Given the description of an element on the screen output the (x, y) to click on. 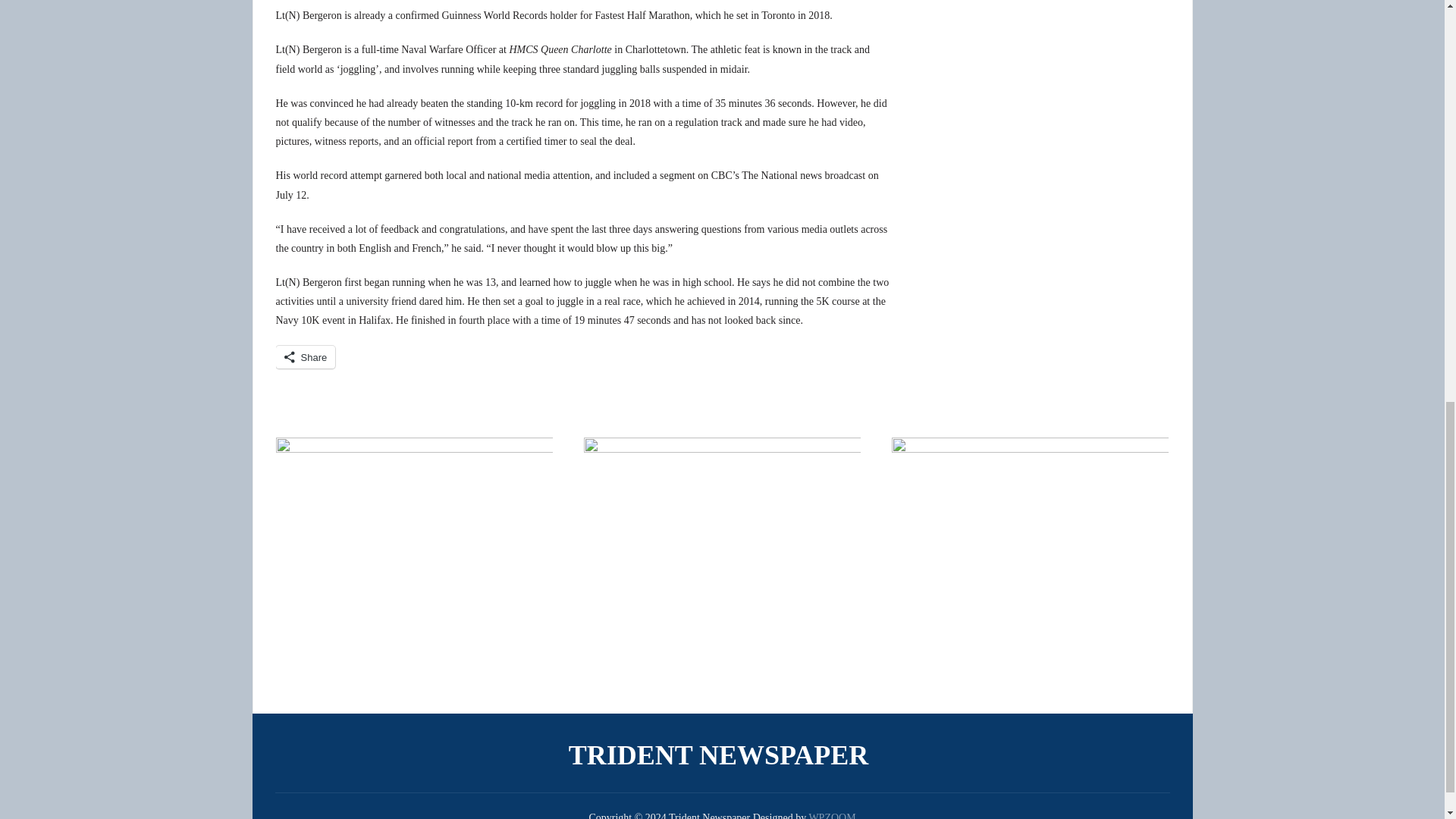
WPZOOM WordPress Themes (832, 815)
We hire military spouses! (1030, 552)
CFB Halifax Trident Navy Newspaper (722, 755)
